Given the description of an element on the screen output the (x, y) to click on. 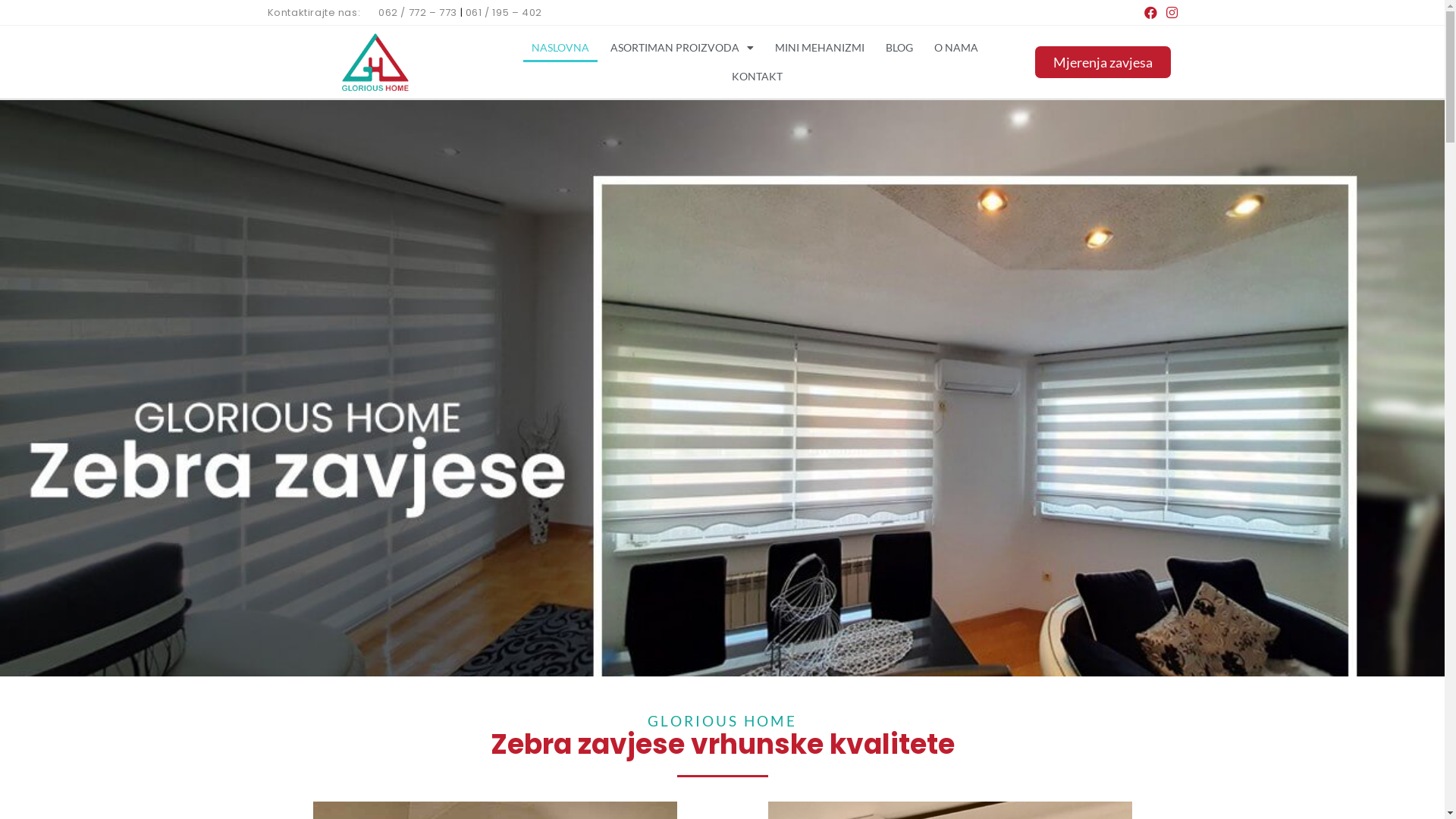
MINI MEHANIZMI Element type: text (819, 47)
KONTAKT Element type: text (756, 76)
Mjerenja zavjesa Element type: text (1102, 61)
O NAMA Element type: text (955, 47)
Kontaktirajte nas: Element type: text (313, 12)
BLOG Element type: text (899, 47)
NASLOVNA Element type: text (560, 47)
ASORTIMAN PROIZVODA Element type: text (682, 47)
